Given the description of an element on the screen output the (x, y) to click on. 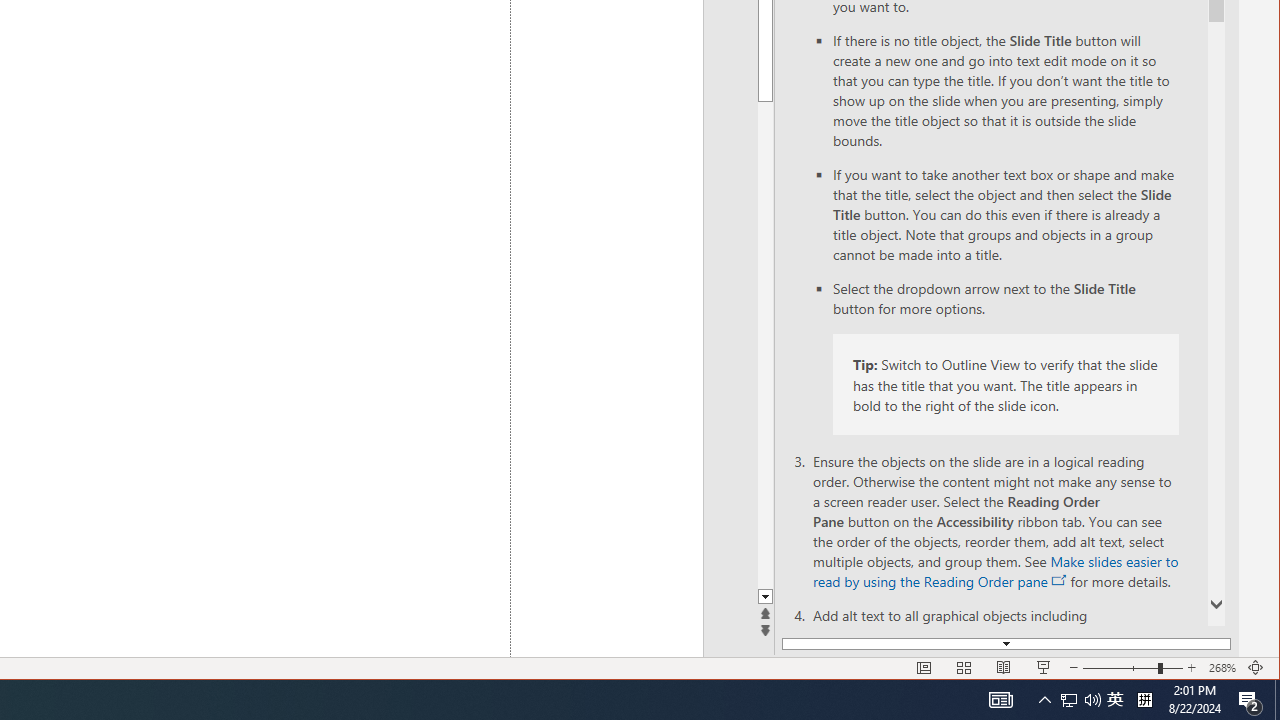
openinnewwindow (1059, 580)
Zoom 268% (1222, 668)
